Given the description of an element on the screen output the (x, y) to click on. 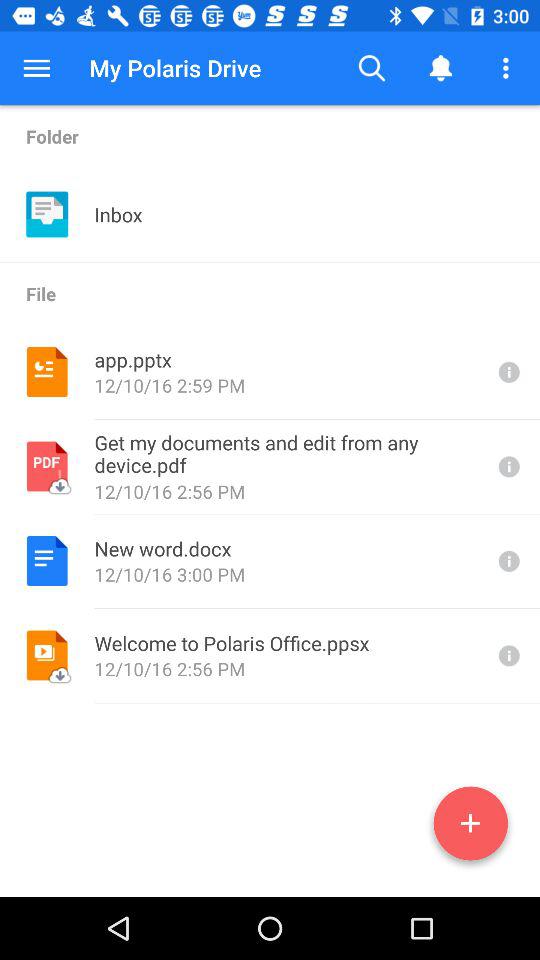
add a file (470, 827)
